Given the description of an element on the screen output the (x, y) to click on. 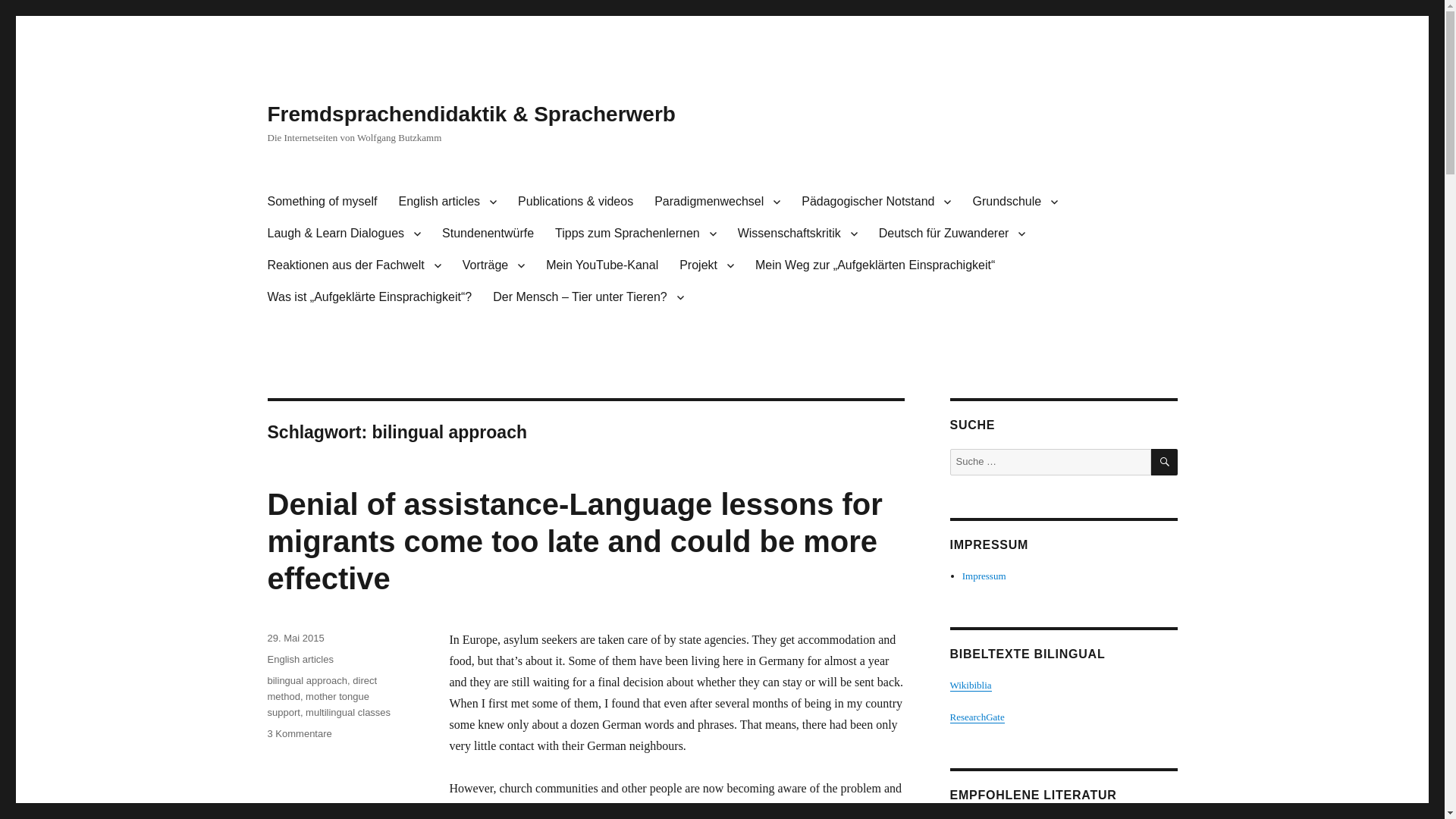
Grundschule (1014, 201)
Paradigmenwechsel (716, 201)
English articles (446, 201)
Something of myself (321, 201)
